Given the description of an element on the screen output the (x, y) to click on. 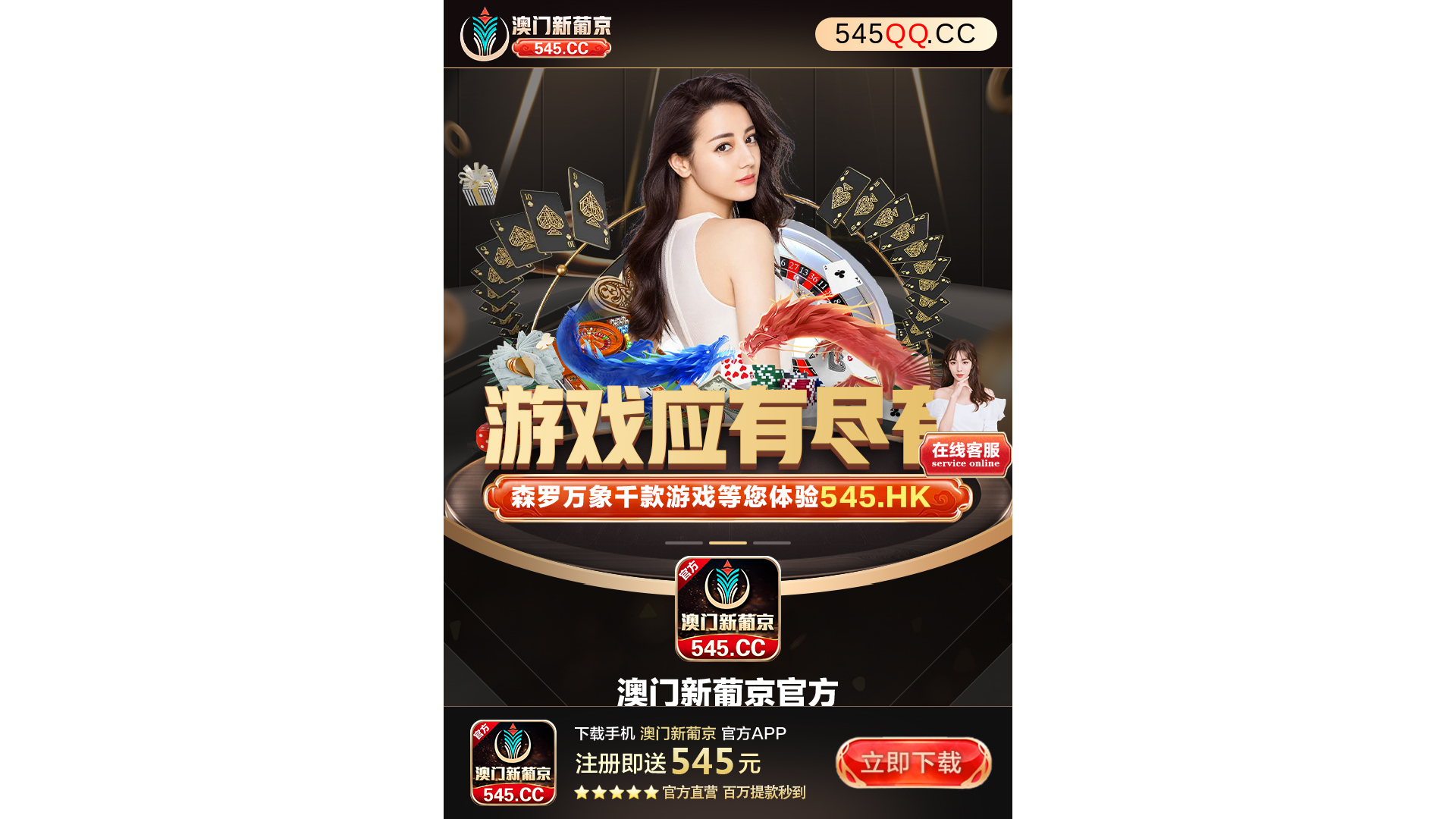
545FF.CC Element type: text (906, 34)
0 Element type: text (727, 325)
545FF.CC Element type: text (727, 34)
